Given the description of an element on the screen output the (x, y) to click on. 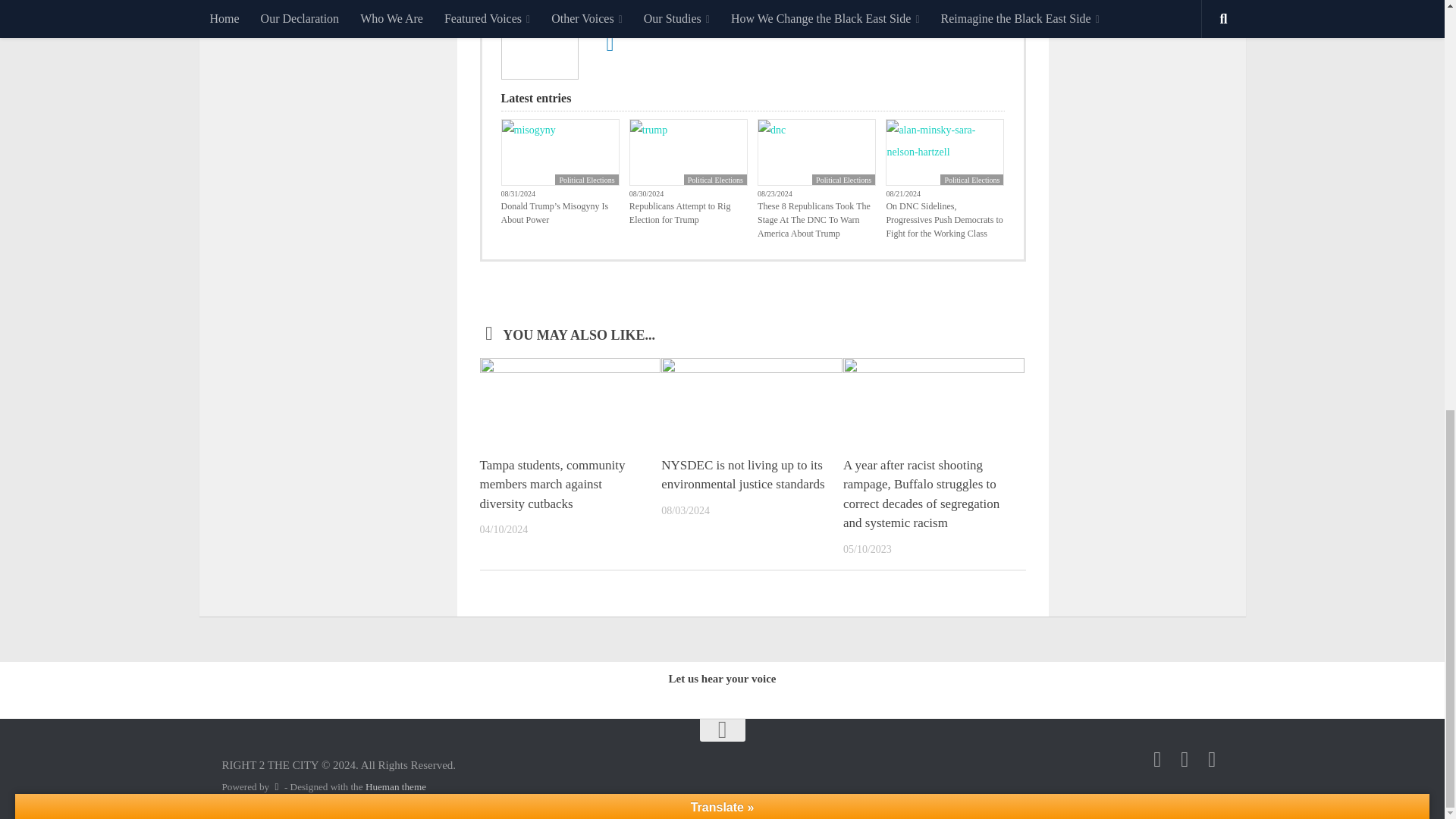
Follow us on Instagram (1184, 759)
Follow us on Facebook (1157, 759)
Powered by WordPress (275, 786)
Hueman theme (395, 786)
Follow us on Twitter (1212, 759)
